Given the description of an element on the screen output the (x, y) to click on. 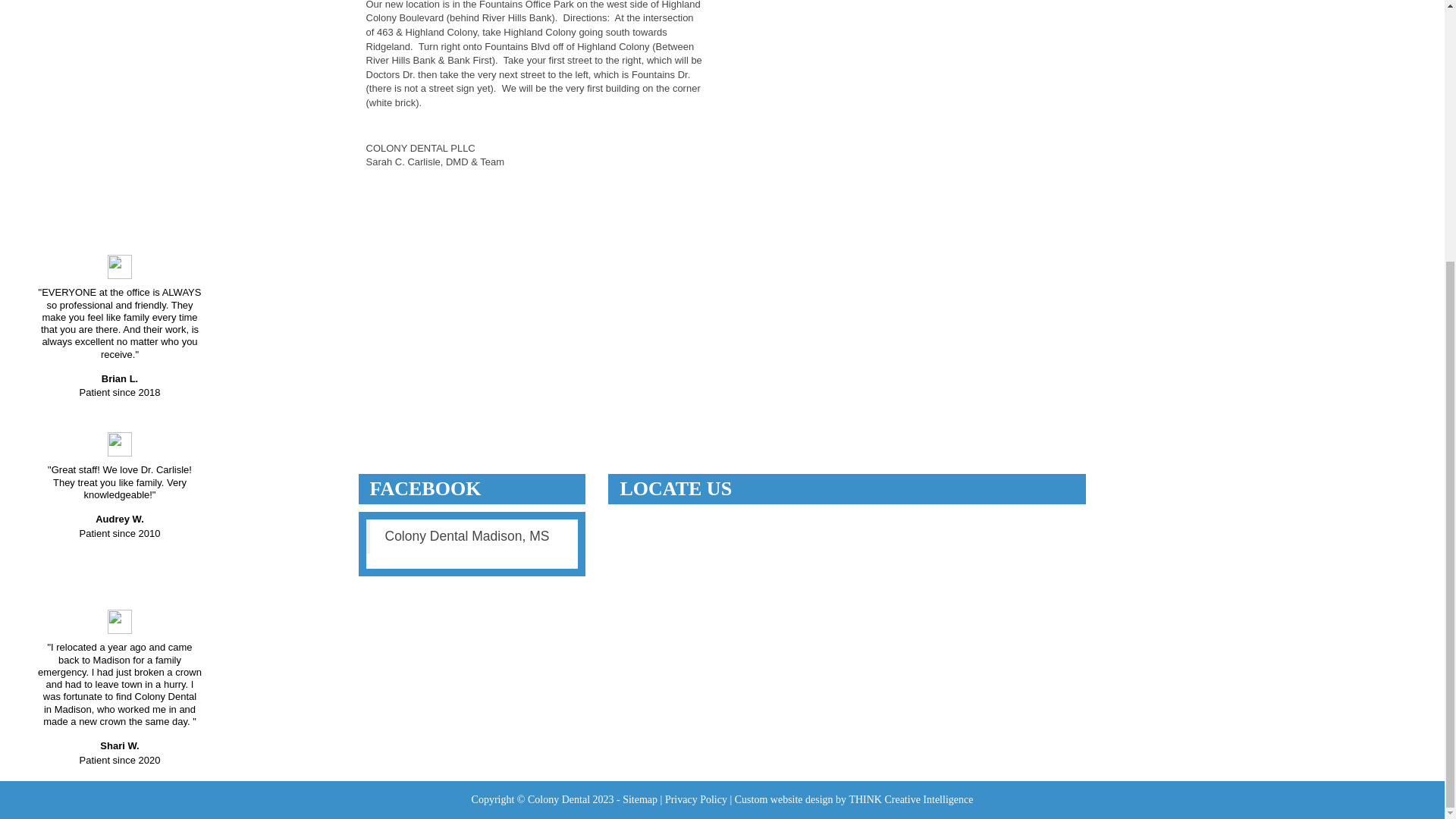
Privacy Policy (695, 799)
THINK Creative Intelligence (910, 799)
Sitemap (640, 799)
Colony Dental Madison, MS (467, 535)
